Given the description of an element on the screen output the (x, y) to click on. 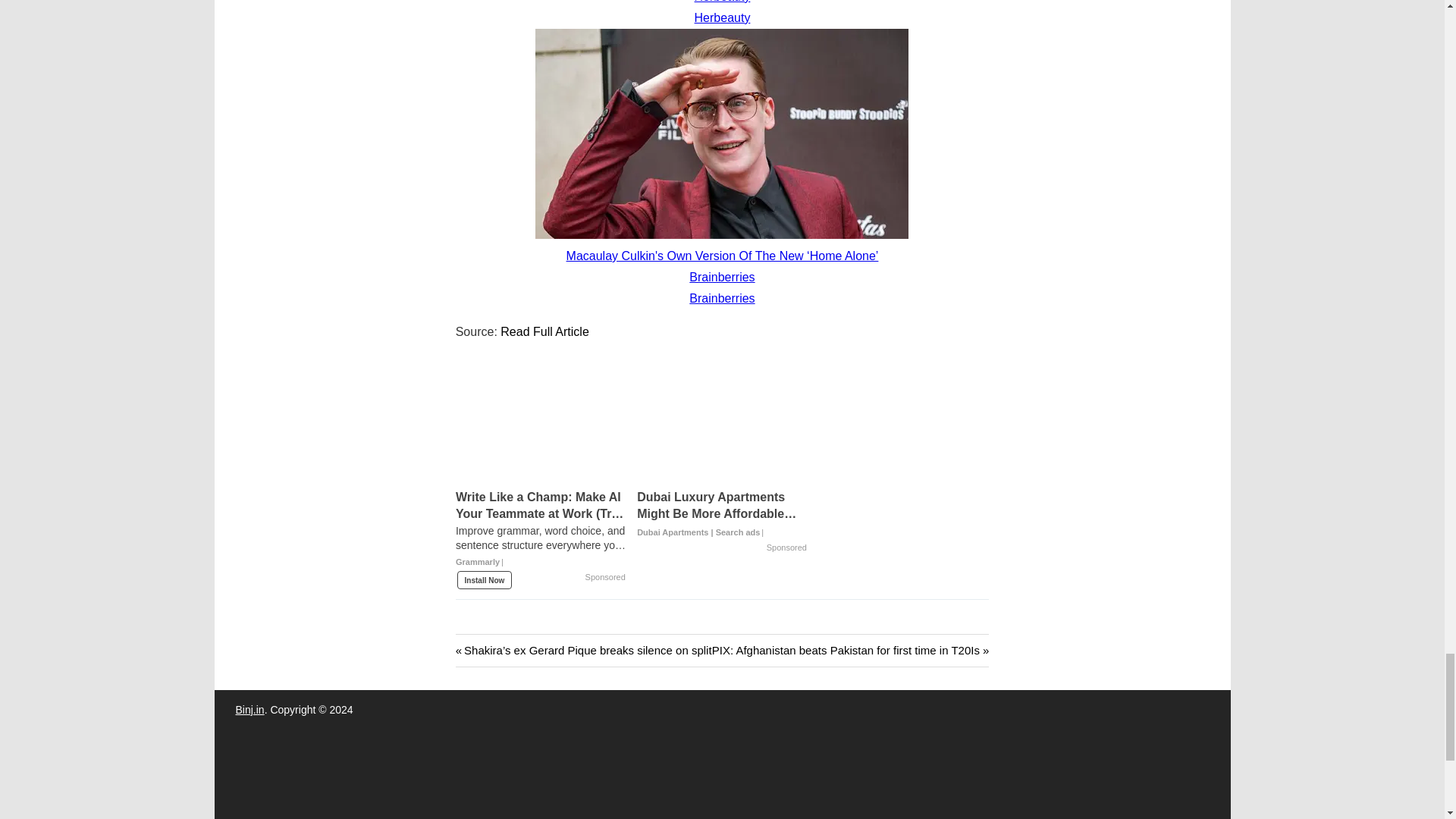
Read Full Article (544, 331)
Sponsored (605, 577)
Install Now (484, 579)
Sponsored (786, 548)
